Given the description of an element on the screen output the (x, y) to click on. 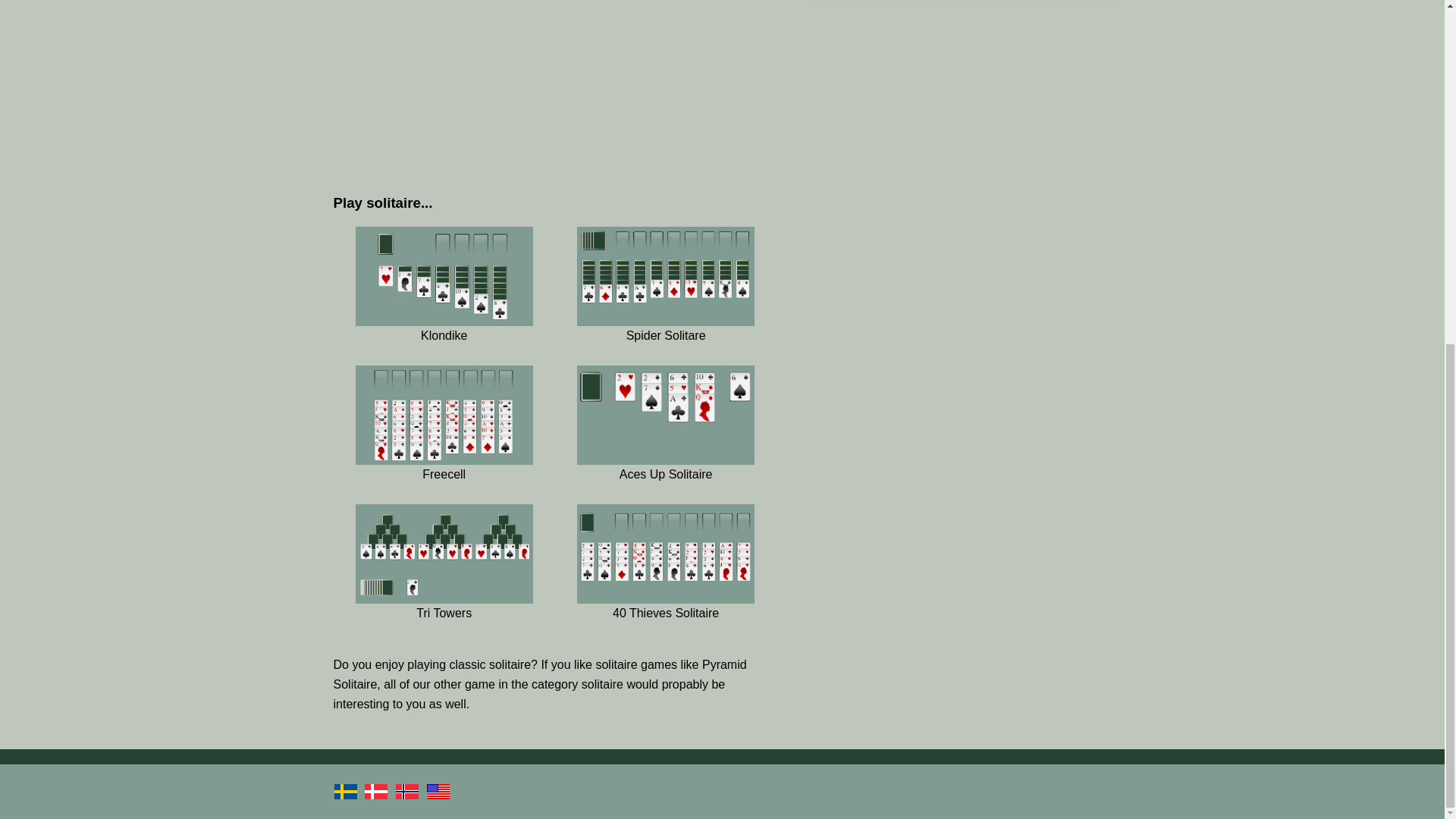
solitaire (601, 684)
Freecell (443, 443)
40 Thieves Solitaire (665, 583)
solitaire (510, 664)
Aces Up Solitaire (665, 443)
Klondike (443, 305)
Tri Towers (443, 583)
Spider Solitare (665, 305)
Advertisement (555, 89)
